Given the description of an element on the screen output the (x, y) to click on. 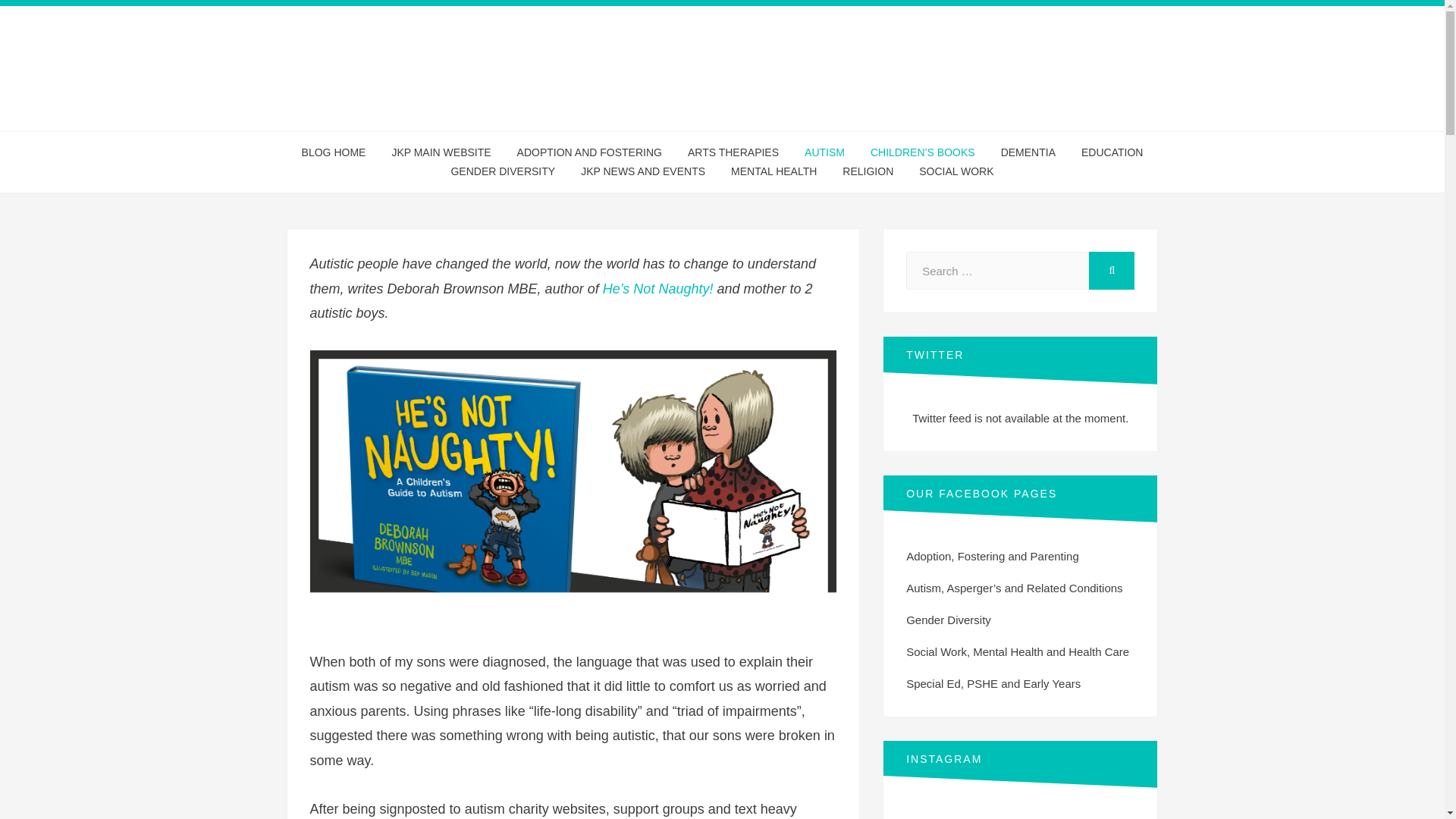
AUTISM (824, 152)
DEMENTIA (1028, 152)
JKP MAIN WEBSITE (440, 152)
RELIGION (867, 171)
EDUCATION (1112, 152)
Search for: (997, 270)
MENTAL HEALTH (773, 171)
JKP NEWS AND EVENTS (642, 171)
GENDER DIVERSITY (502, 171)
ADOPTION AND FOSTERING (589, 152)
